Given the description of an element on the screen output the (x, y) to click on. 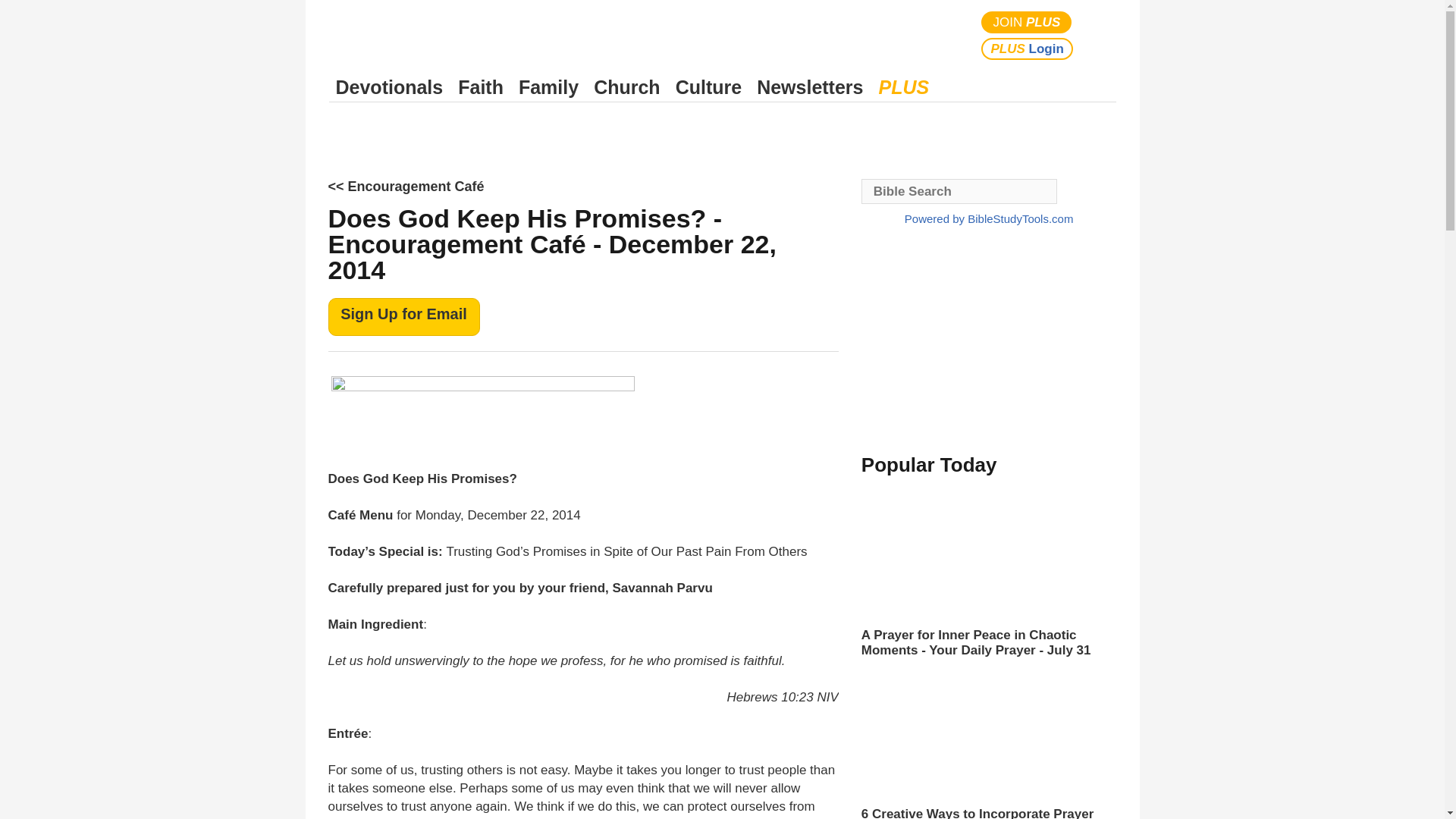
Search (1101, 34)
Family (548, 87)
Faith (481, 87)
JOIN PLUS (1026, 22)
Devotionals (389, 87)
PLUS Login (1026, 48)
Join Plus (1026, 22)
Plus Login (1026, 48)
